Given the description of an element on the screen output the (x, y) to click on. 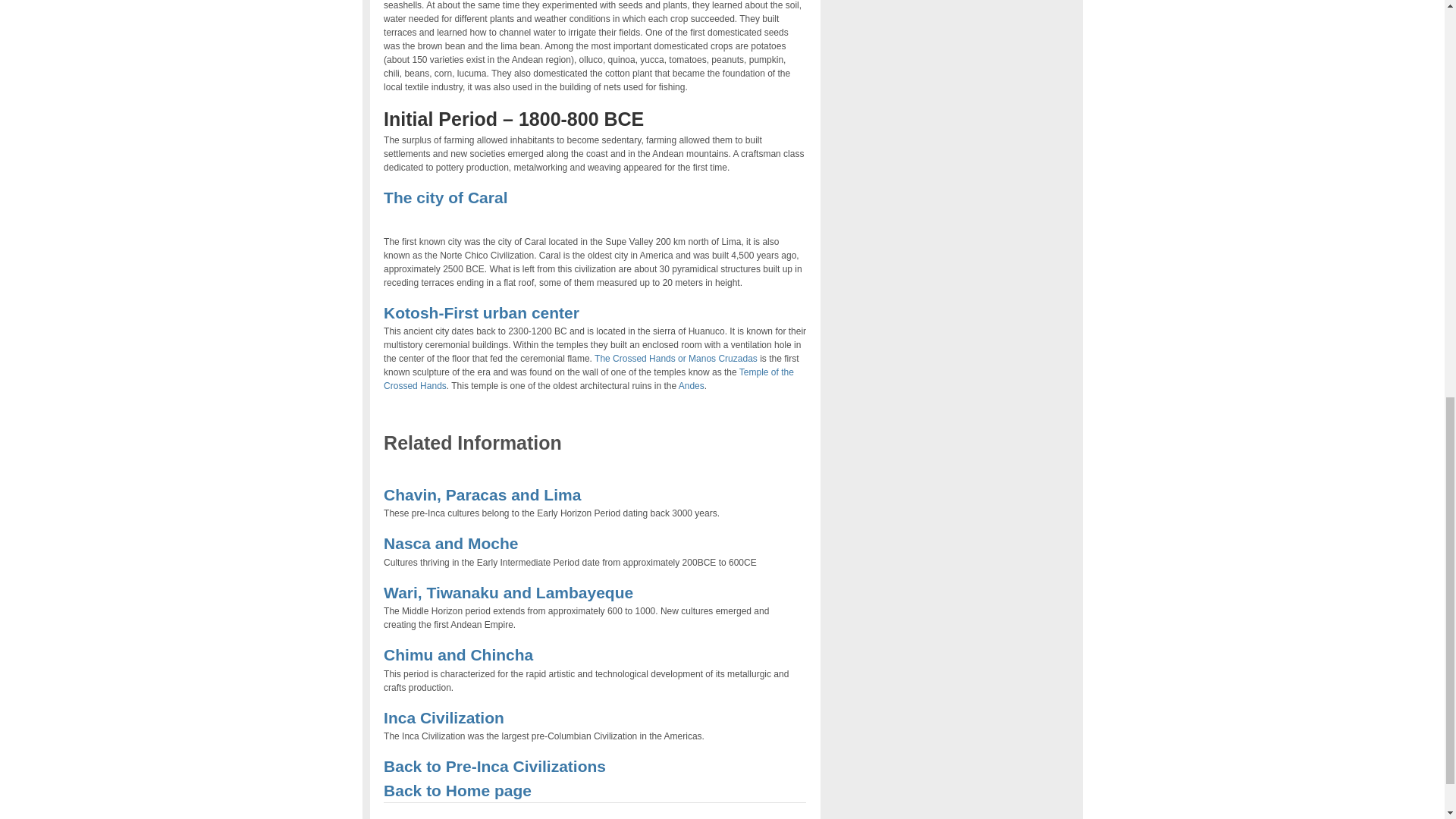
The Crossed Hands or Manos Cruzadas (675, 357)
The city of Caral (445, 197)
Discover Peru (457, 790)
Temple of the Crossed Hands (588, 378)
Chavin, Paracas and Lima (482, 494)
Inca Civilization (443, 717)
Nasca and Moche (451, 543)
Back to Home page (457, 790)
Wari, Tiwanaku and Lambayeque (508, 592)
Back to Pre-Inca Civilizations (494, 765)
